Given the description of an element on the screen output the (x, y) to click on. 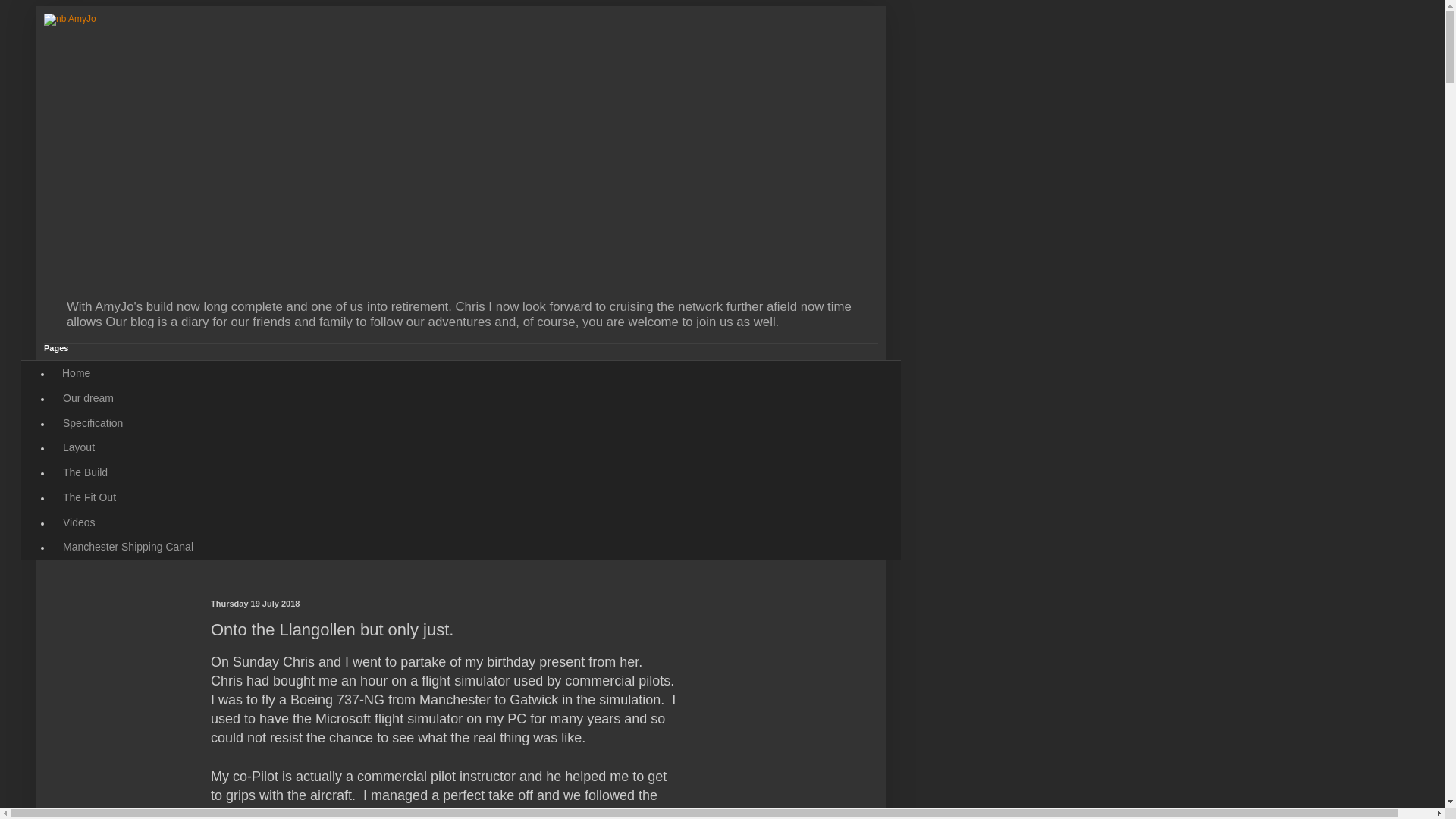
The Build (83, 472)
Layout (77, 447)
The Fit Out (88, 497)
Manchester Shipping Canal (126, 546)
Specification (91, 422)
Our dream (86, 397)
Home (75, 373)
Videos (78, 521)
